Given the description of an element on the screen output the (x, y) to click on. 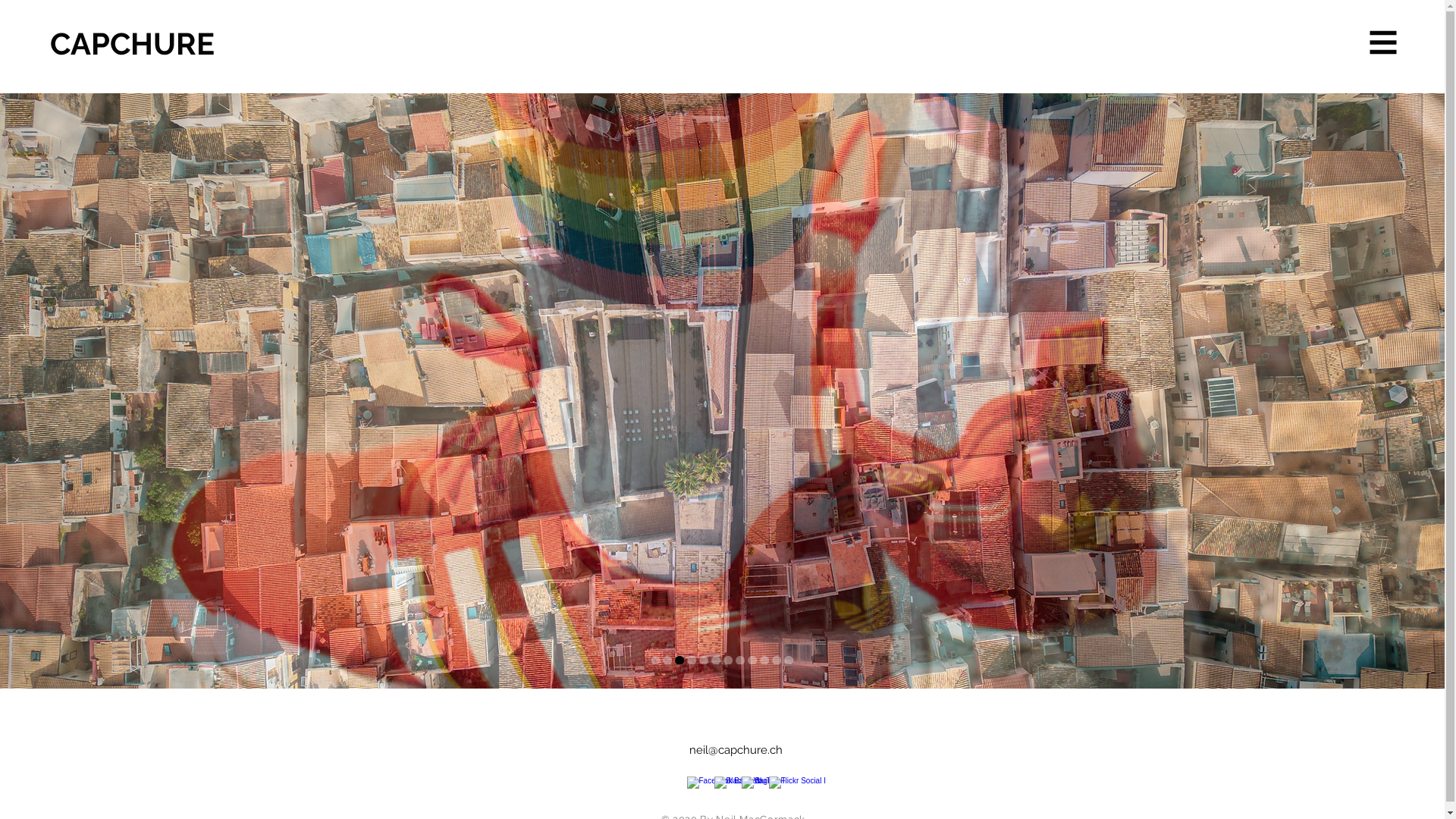
CAPCHURE Element type: text (136, 43)
neil@capchure.ch Element type: text (734, 749)
